Given the description of an element on the screen output the (x, y) to click on. 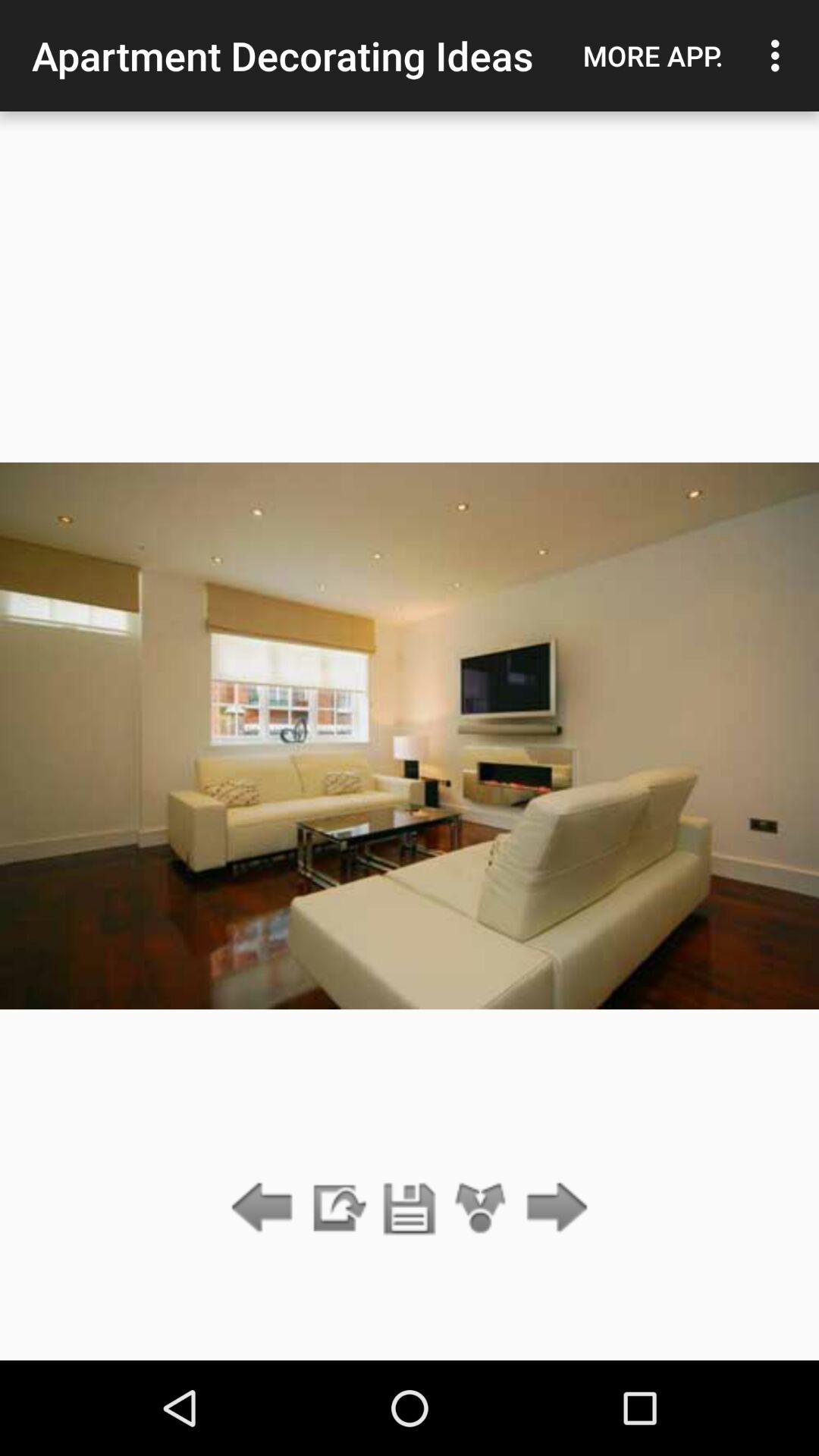
open item next to the more app. icon (779, 55)
